Given the description of an element on the screen output the (x, y) to click on. 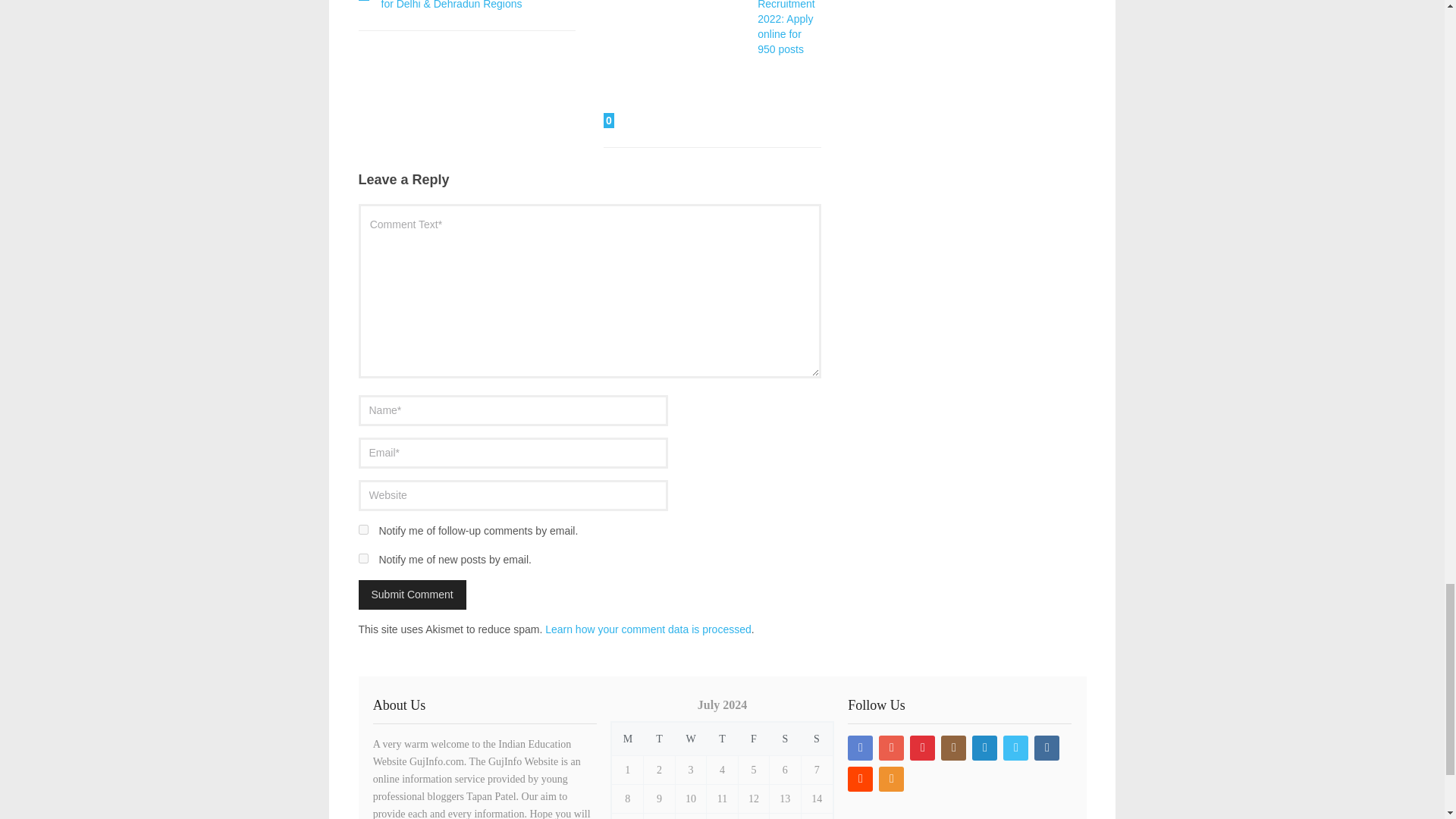
subscribe (363, 558)
subscribe (363, 529)
Submit Comment (411, 594)
